Given the description of an element on the screen output the (x, y) to click on. 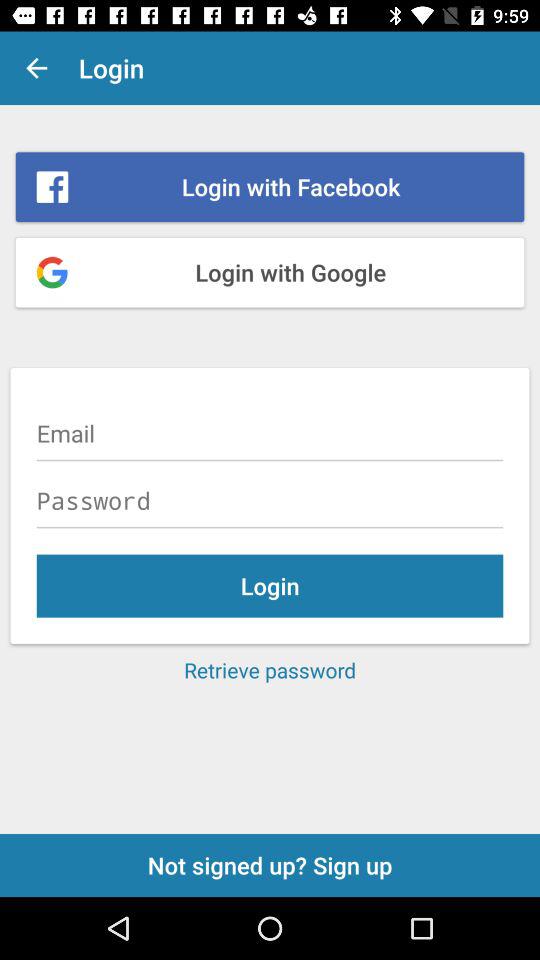
press retrieve password icon (269, 669)
